Given the description of an element on the screen output the (x, y) to click on. 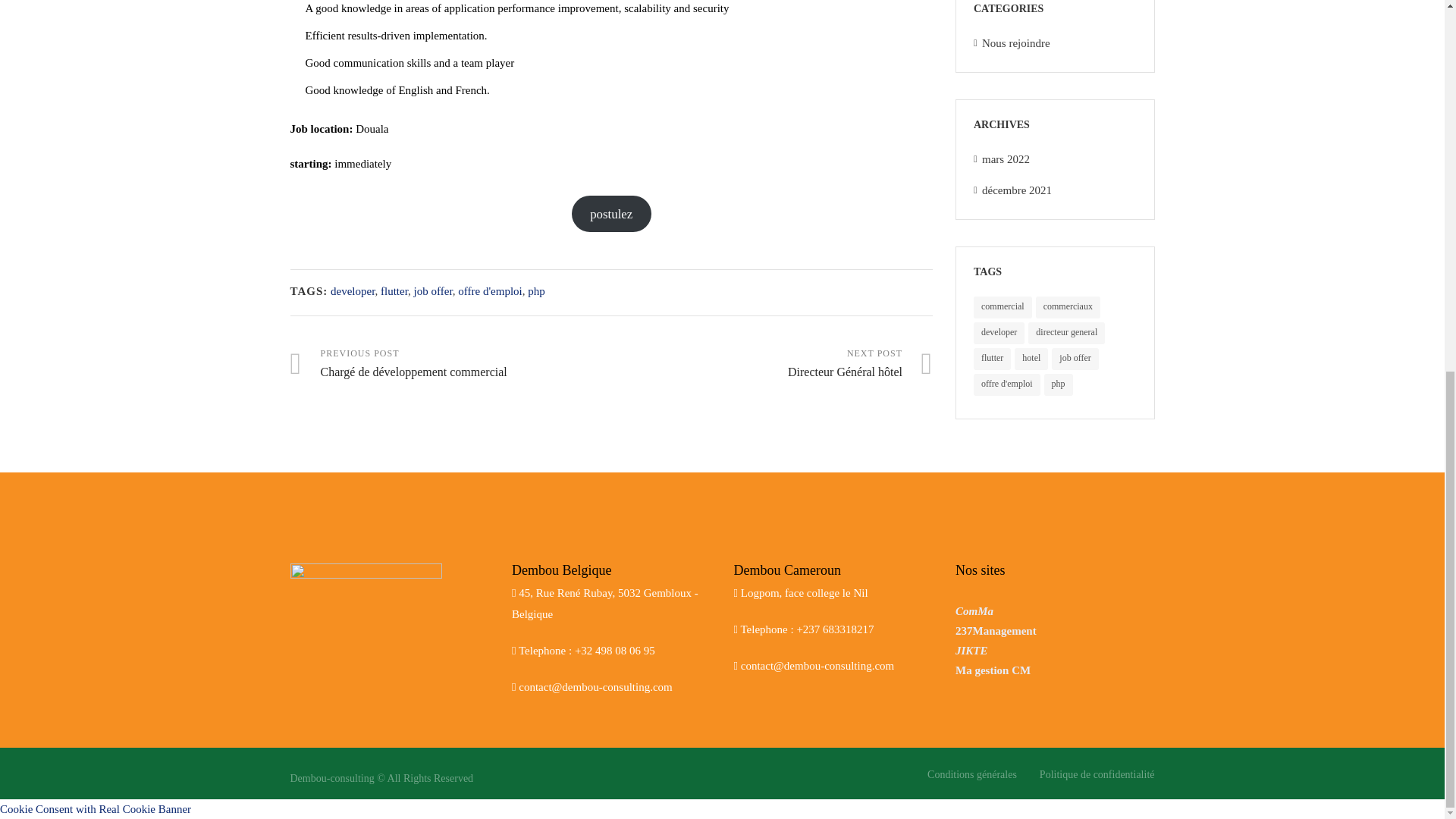
job offer (432, 291)
commercial (1003, 307)
postulez (611, 213)
developer (352, 291)
offre d'emploi (490, 291)
Nous rejoindre (1015, 42)
mars 2022 (1005, 159)
directeur general (1066, 332)
flutter (393, 291)
commerciaux (1067, 307)
